Given the description of an element on the screen output the (x, y) to click on. 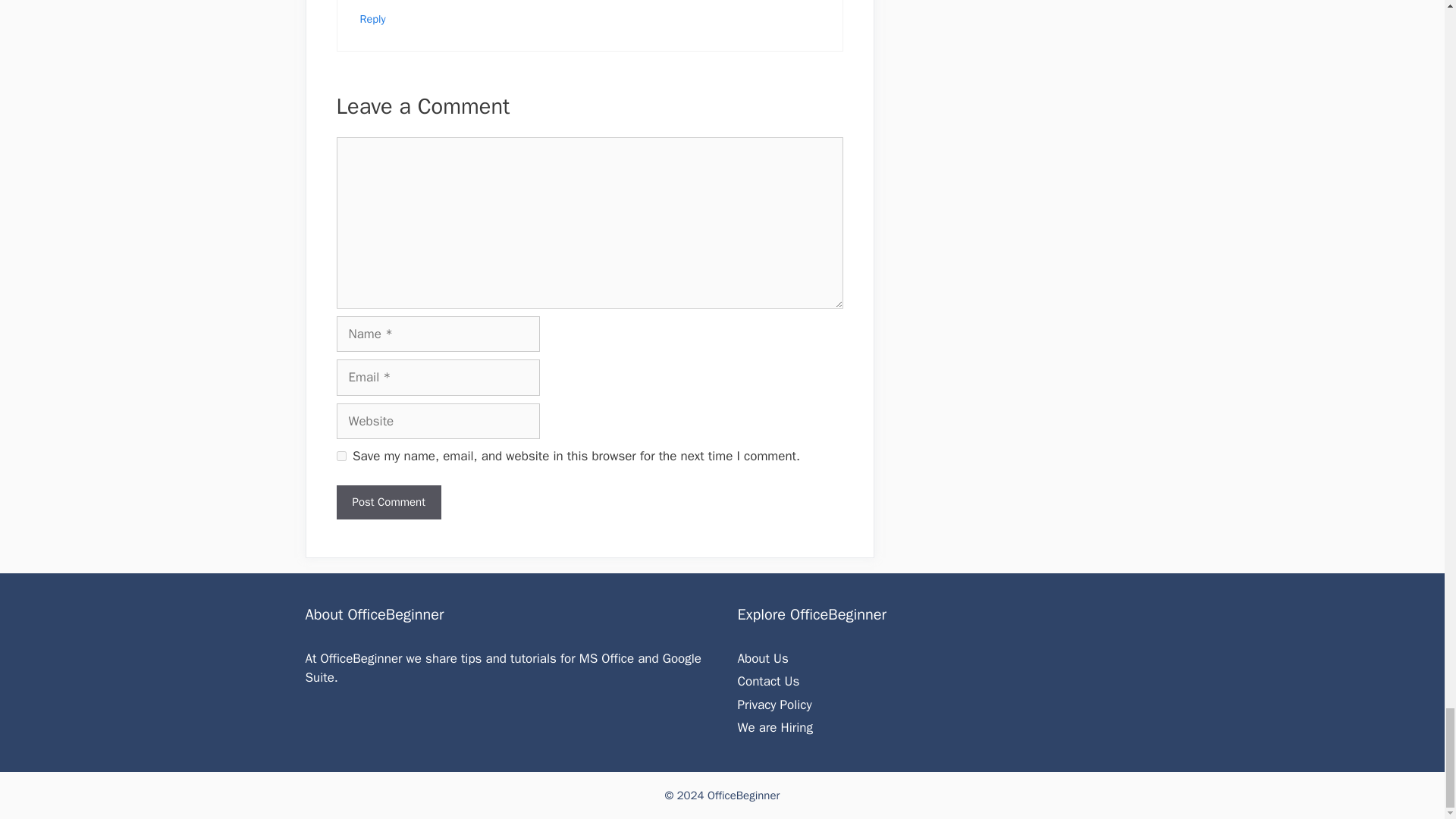
yes (341, 456)
Post Comment (388, 502)
Reply (372, 18)
